Given the description of an element on the screen output the (x, y) to click on. 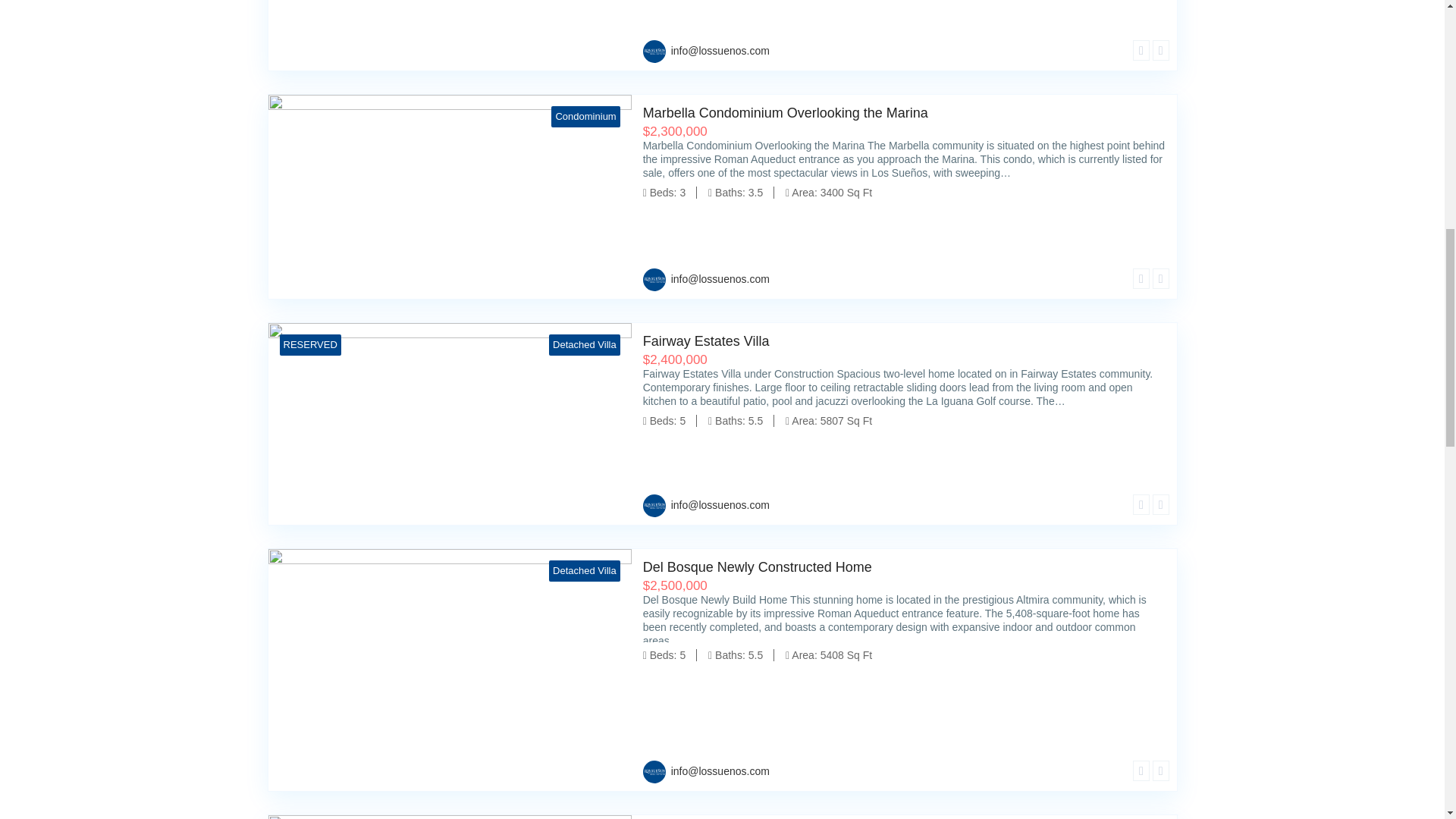
Marbella Condominium Overlooking the Marina (904, 113)
Fairway Estates Villa (449, 35)
